Given the description of an element on the screen output the (x, y) to click on. 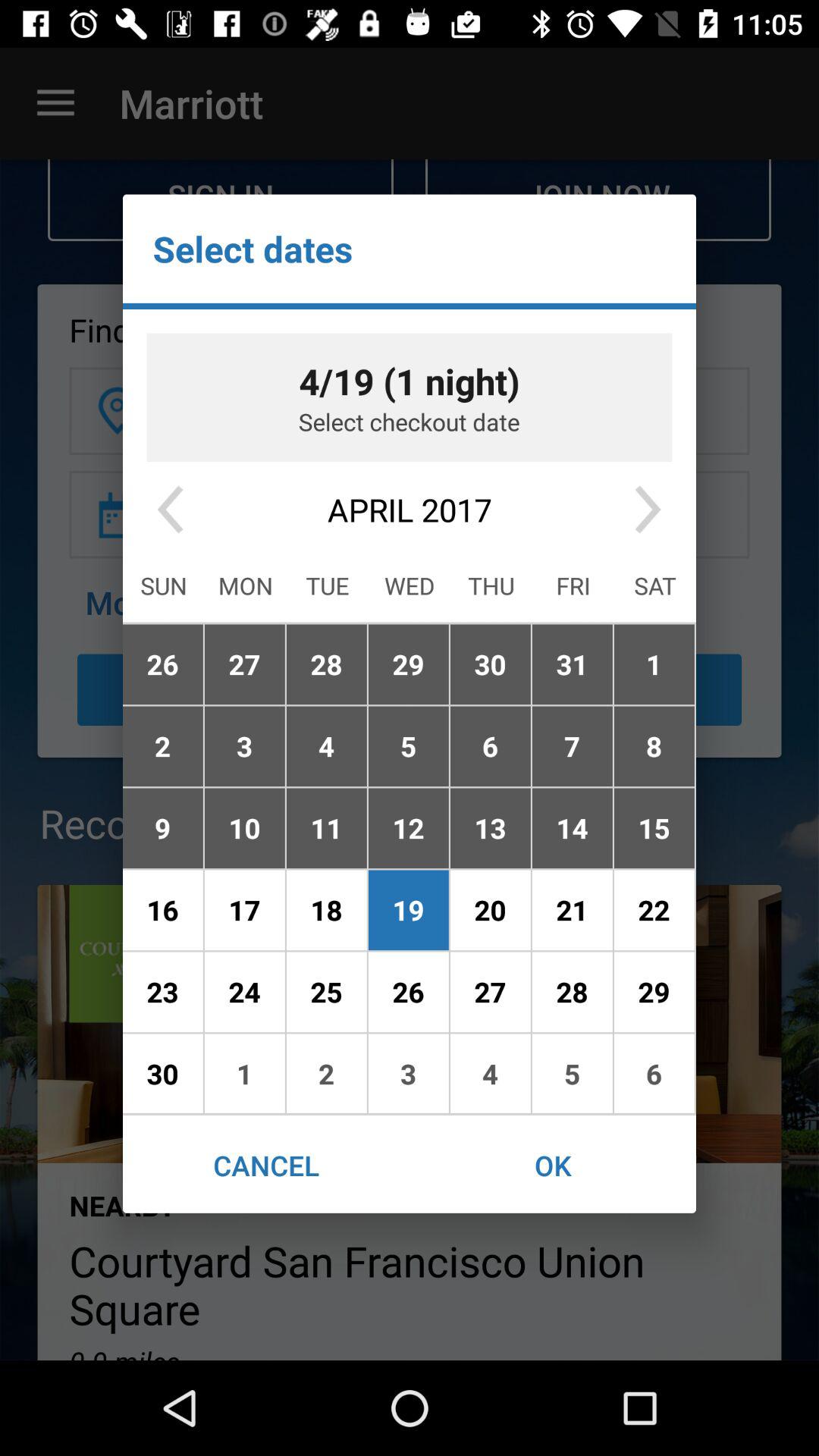
click april 2017 icon (409, 509)
